Given the description of an element on the screen output the (x, y) to click on. 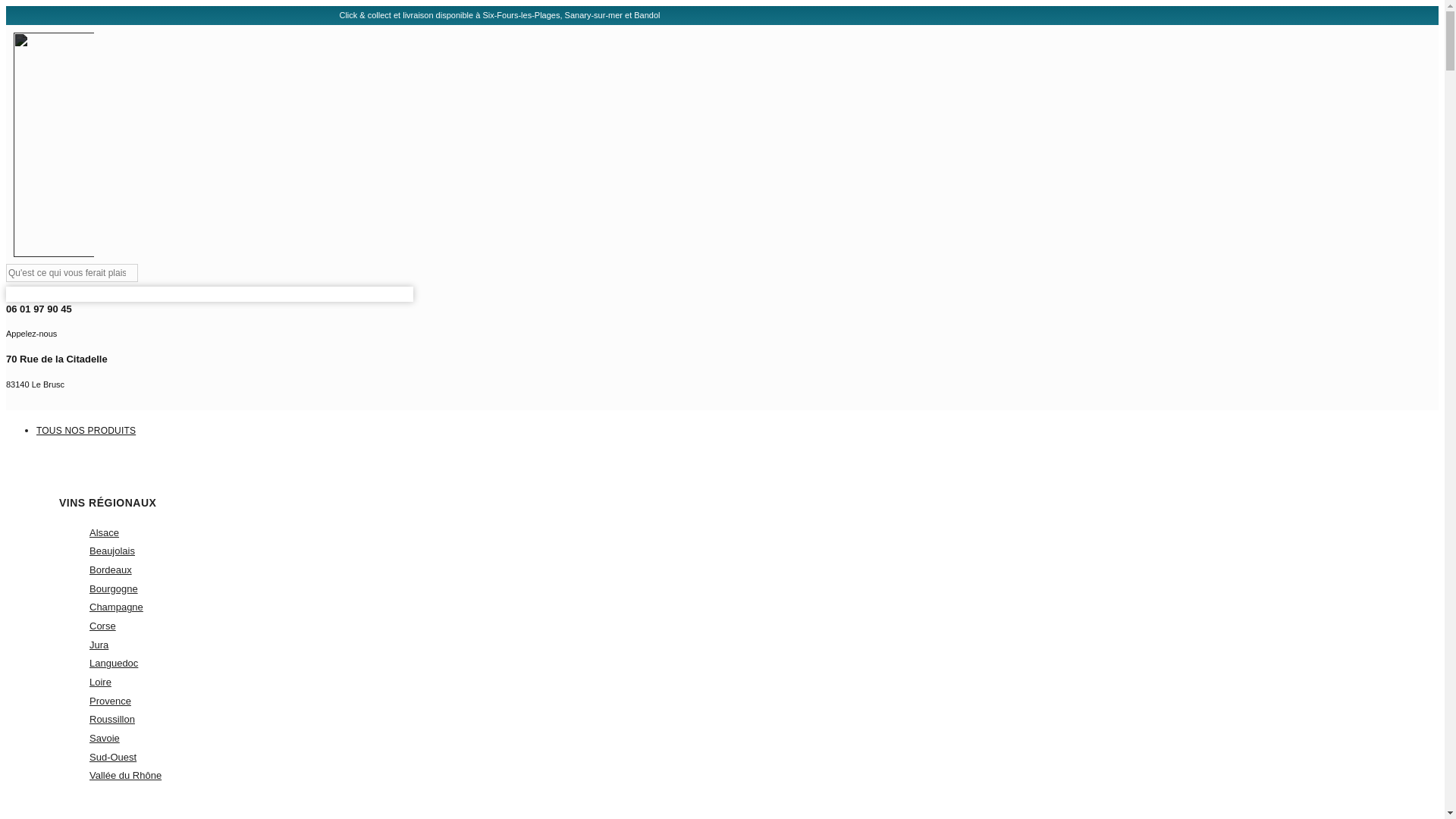
Sud-Ouest (112, 756)
Beaujolais (111, 550)
Bordeaux (110, 569)
Roussillon (479, 322)
Aller au contenu (111, 718)
Bourgogne (113, 663)
Savoie (479, 372)
Loire (113, 588)
Jura (103, 737)
Champagne (100, 681)
Corse (97, 644)
TOUS NOS PRODUITS (115, 606)
